Given the description of an element on the screen output the (x, y) to click on. 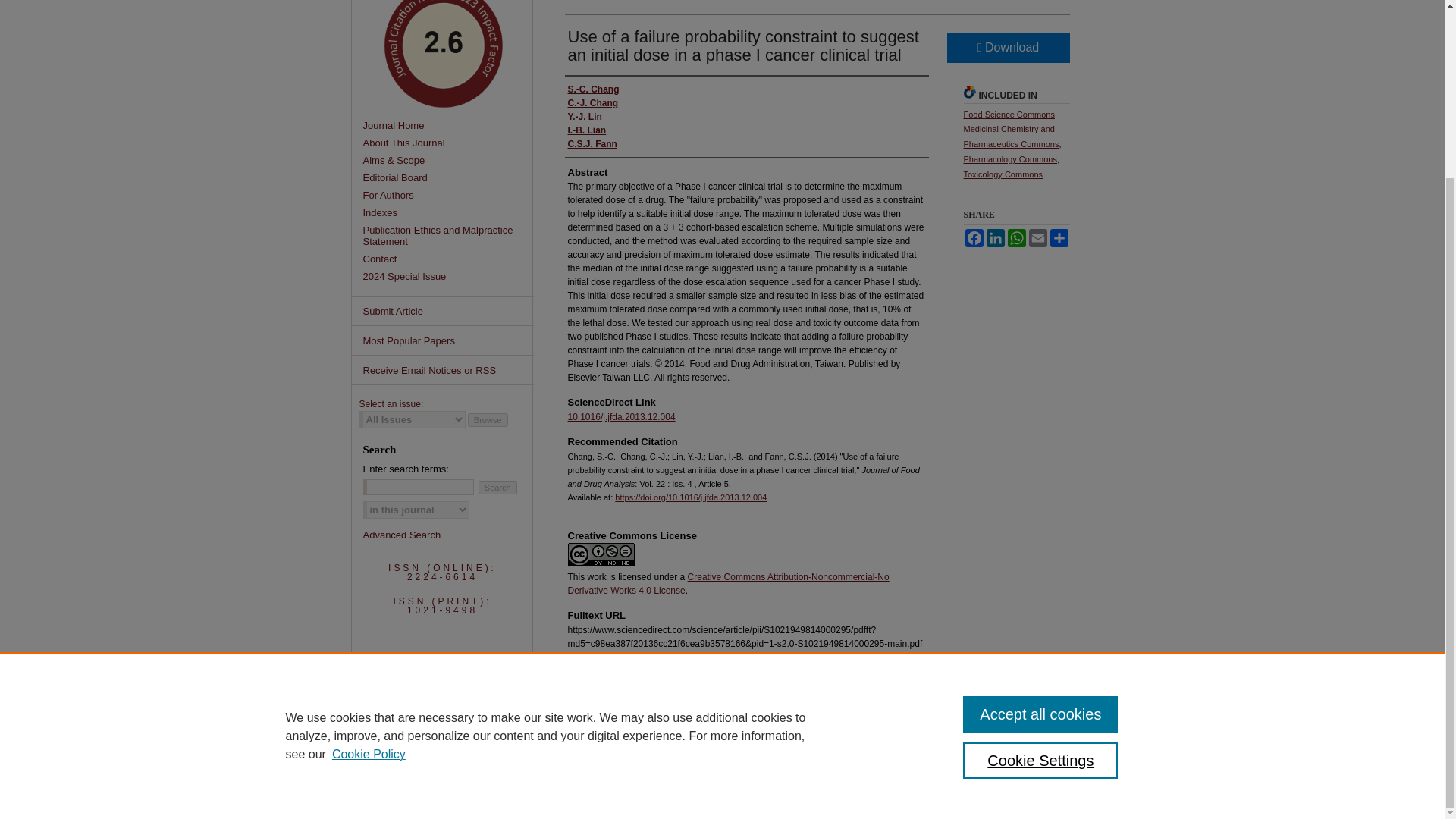
Toxicology Commons (1002, 174)
S.-C. Chang (592, 89)
LinkedIn (995, 238)
Pharmacology Commons (1009, 158)
View the top downloaded papers (443, 340)
C.S.J. Fann (591, 143)
Share (1058, 238)
Food Science Commons (1008, 113)
C.-J. Chang (592, 102)
Facebook (973, 238)
Y.-J. Lin (584, 116)
Journal of Food and Drug Analysis (447, 125)
Pharmacology Commons (1009, 158)
Search (497, 487)
